Given the description of an element on the screen output the (x, y) to click on. 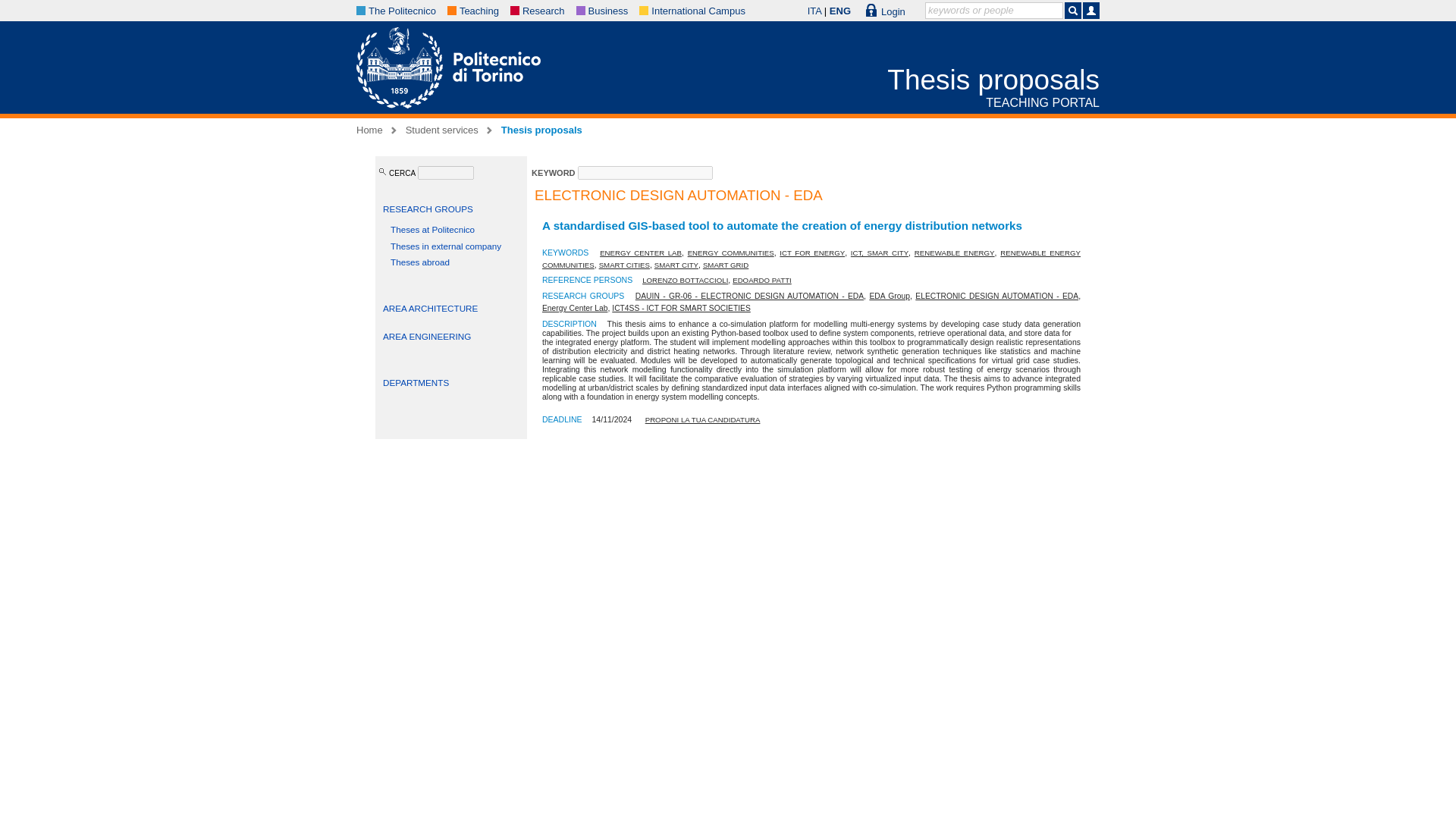
ENERGY CENTER LAB (640, 252)
RENEWABLE ENERGY COMMUNITIES (810, 258)
ITA (815, 10)
Theses at Politecnico (432, 229)
SMART CITY (675, 265)
AREA ARCHITECTURE (429, 307)
ENG (839, 10)
RENEWABLE ENERGY (954, 252)
International Campus (697, 10)
Teaching (479, 10)
